Given the description of an element on the screen output the (x, y) to click on. 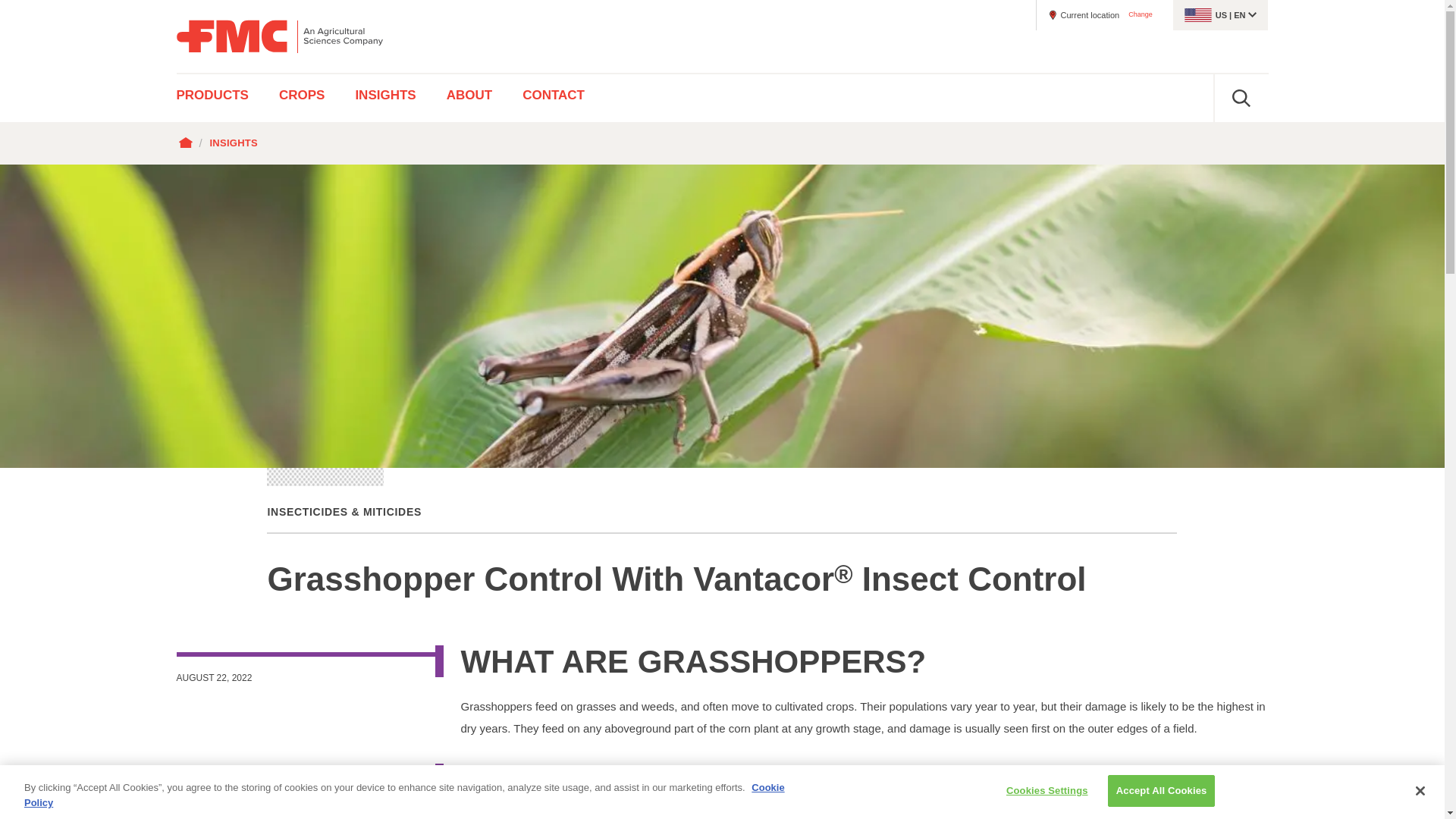
Product Categories (219, 98)
ISO country code (1221, 14)
INSIGHTS (233, 143)
FMC Corporation. An agricultural sciences company. (278, 36)
ABOUT (468, 98)
CONTACT (552, 98)
INSIGHTS (384, 98)
ISO language code (1238, 14)
PRODUCTS (219, 98)
CROPS (301, 98)
